Given the description of an element on the screen output the (x, y) to click on. 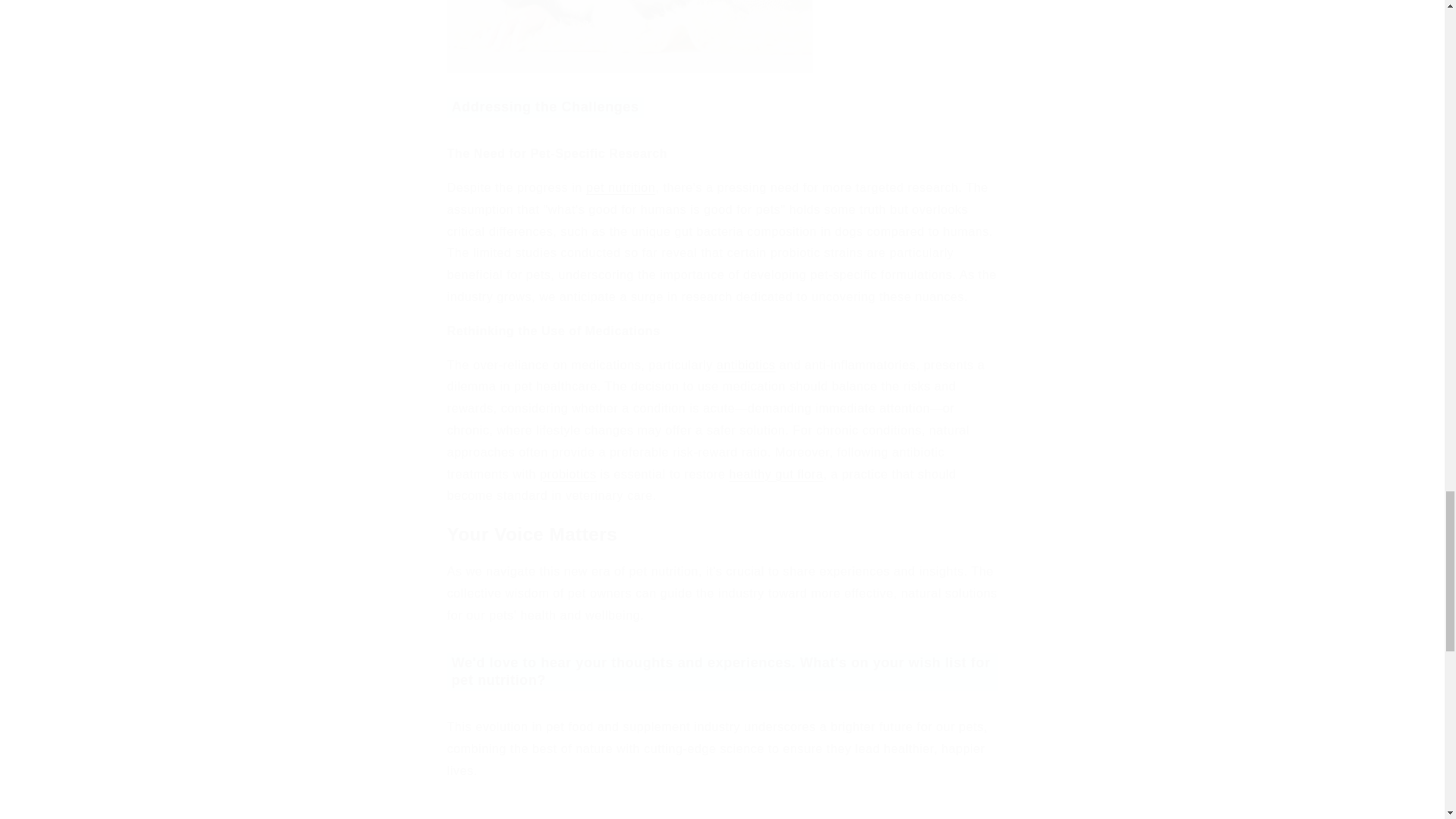
nusentia pet nutrition (620, 187)
healthy gut (776, 473)
probiotics (567, 473)
antibiotics for dogs (746, 364)
